Given the description of an element on the screen output the (x, y) to click on. 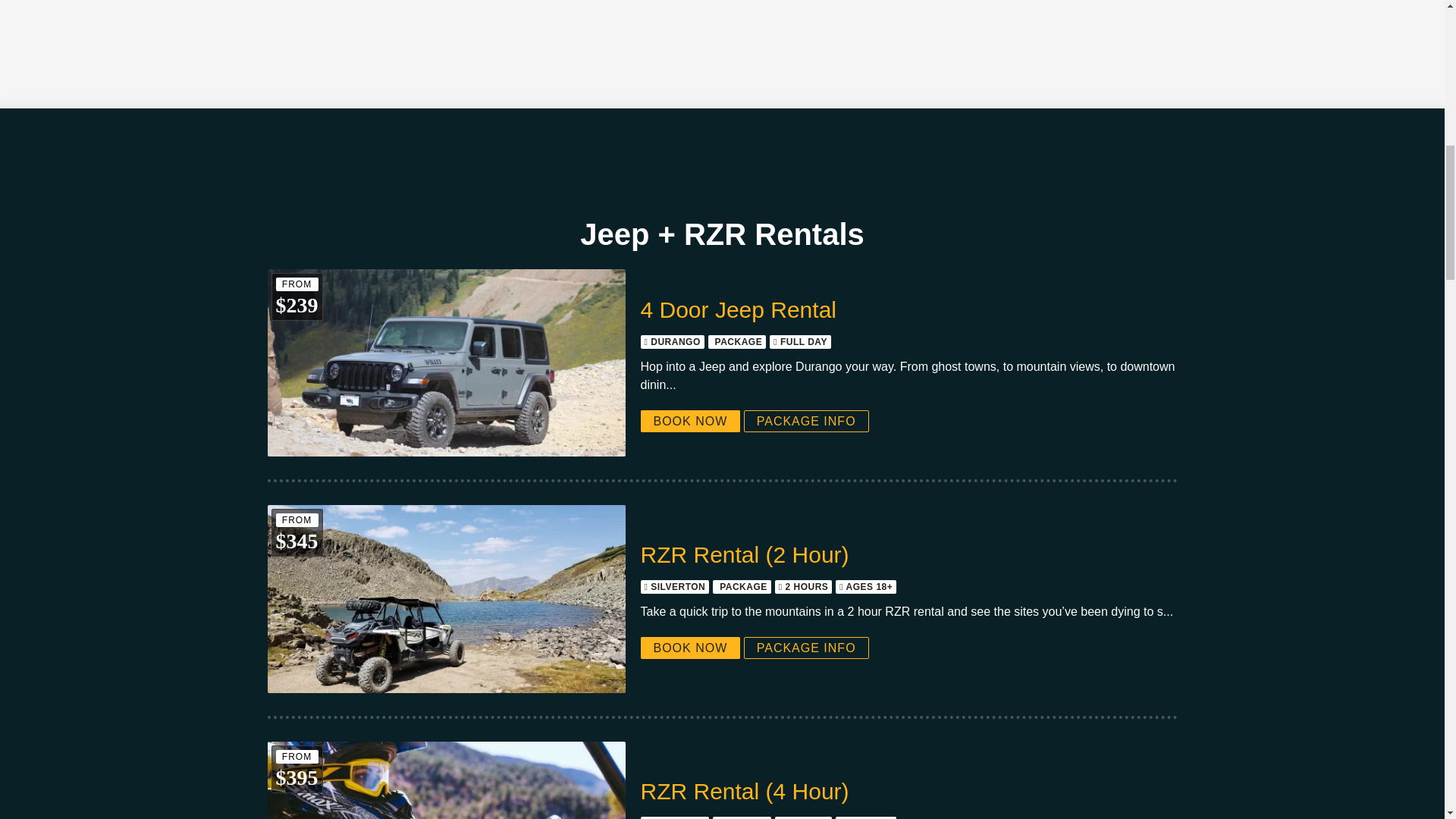
FareHarbor (1342, 64)
